Given the description of an element on the screen output the (x, y) to click on. 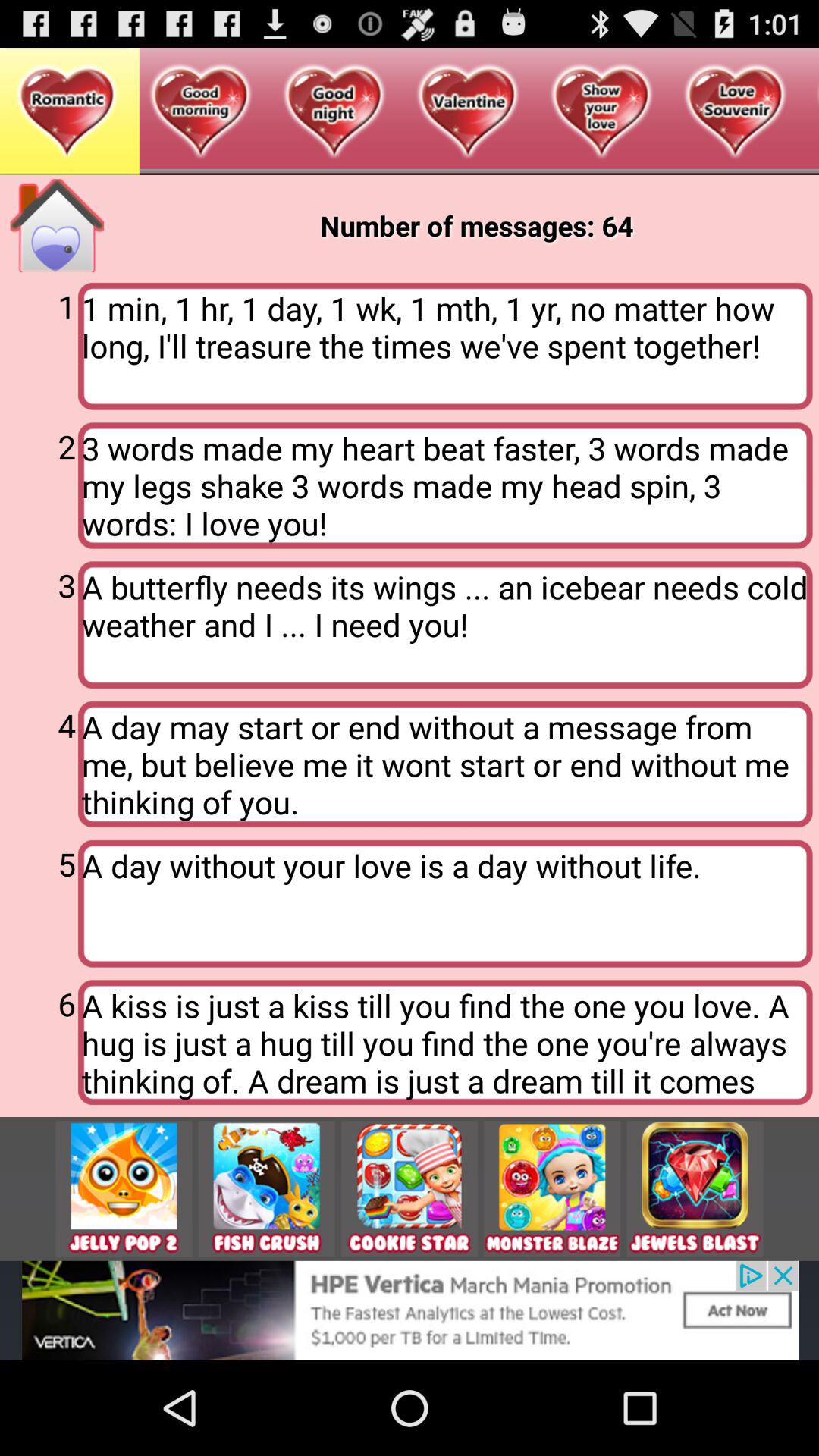
show outside advertisement (409, 1310)
